Given the description of an element on the screen output the (x, y) to click on. 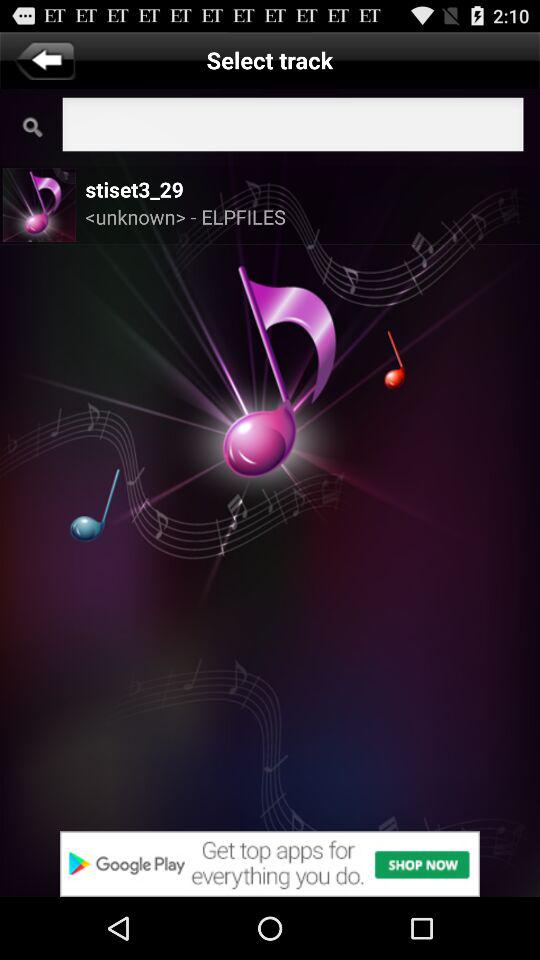
go back (44, 59)
